Given the description of an element on the screen output the (x, y) to click on. 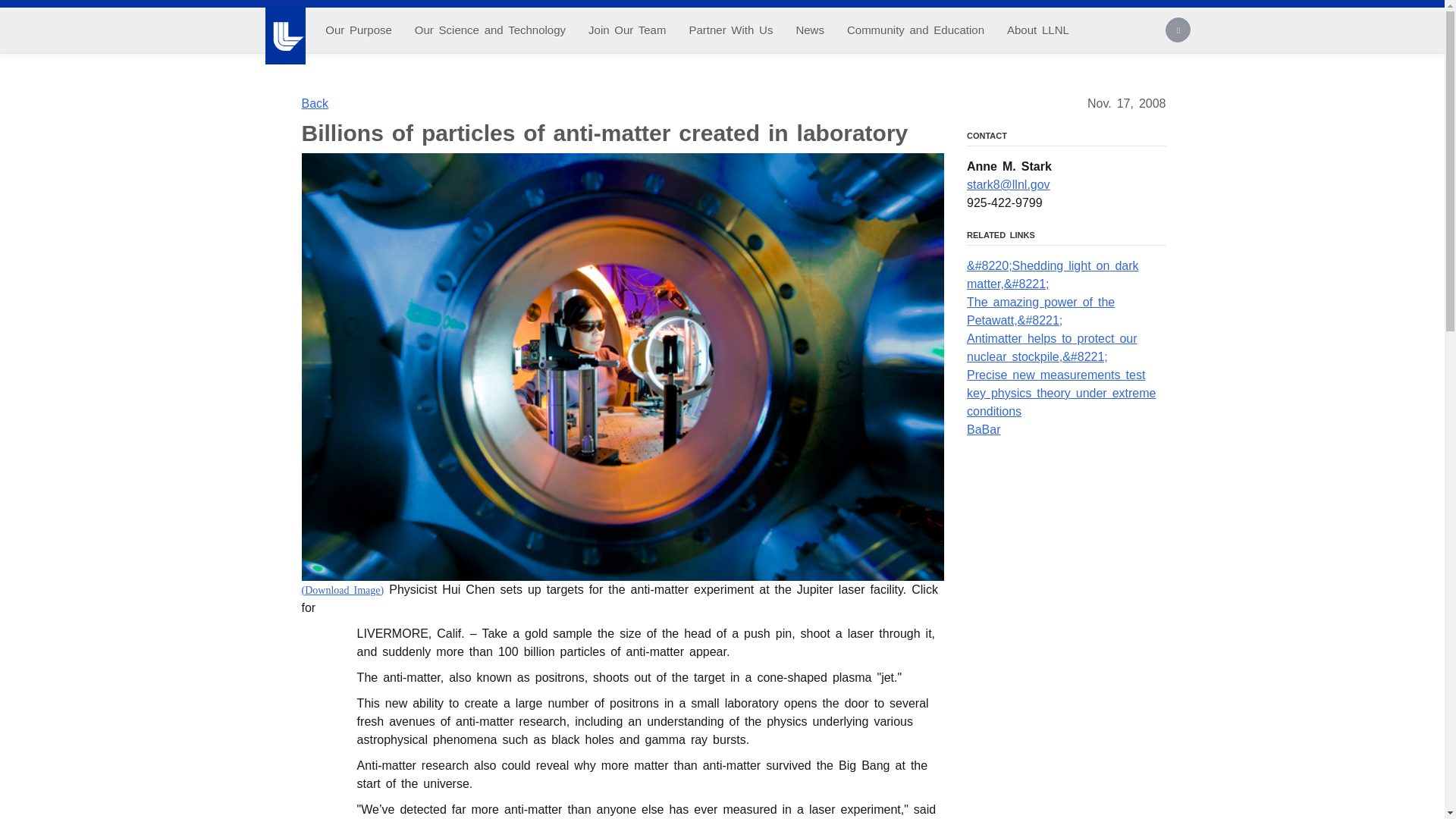
Share to Email (317, 745)
Share to X (317, 685)
Share to Facebook (317, 655)
Share to Linkedin (317, 715)
Search (1179, 31)
